Given the description of an element on the screen output the (x, y) to click on. 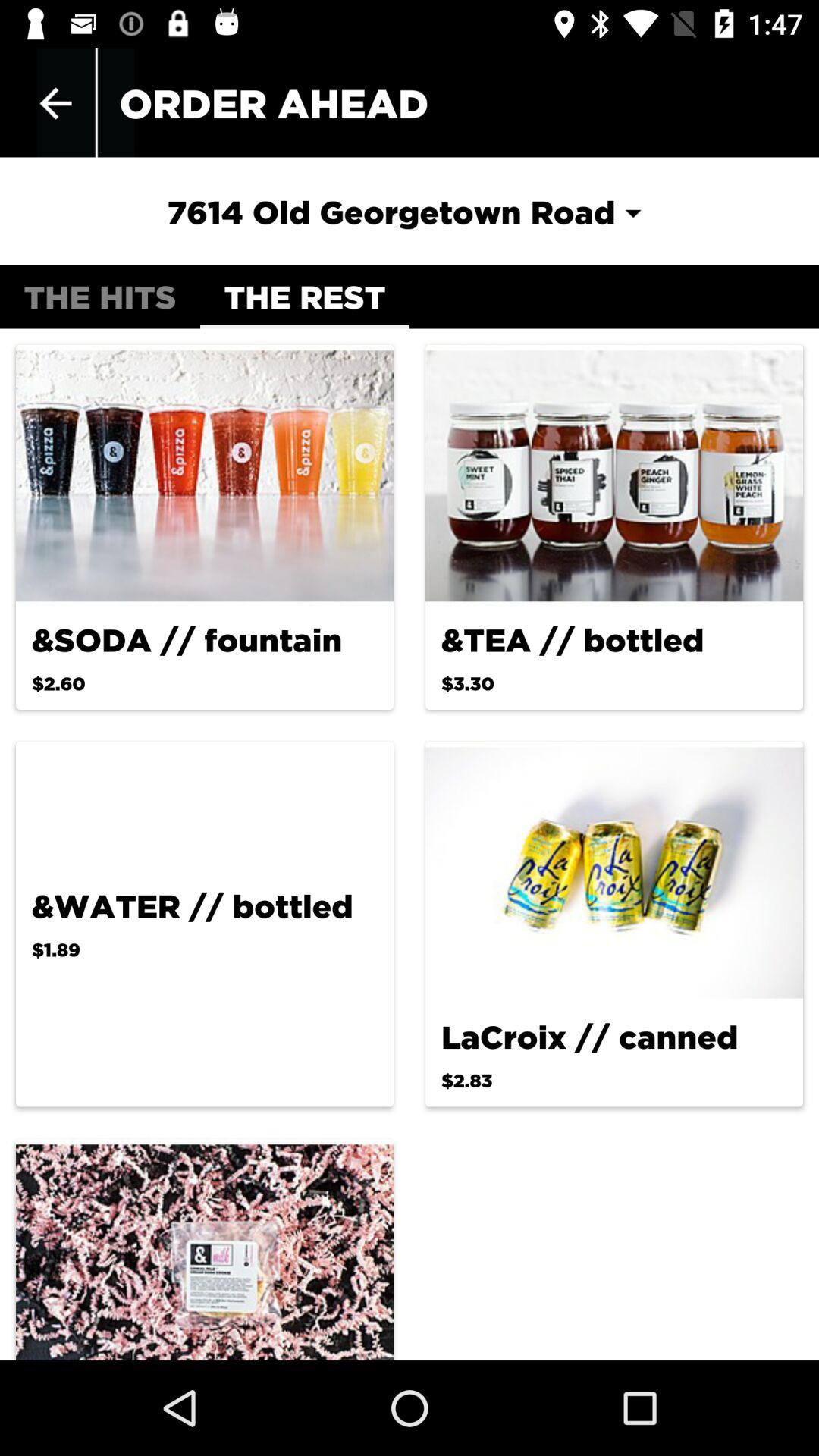
tap the icon above the hits icon (55, 103)
